Given the description of an element on the screen output the (x, y) to click on. 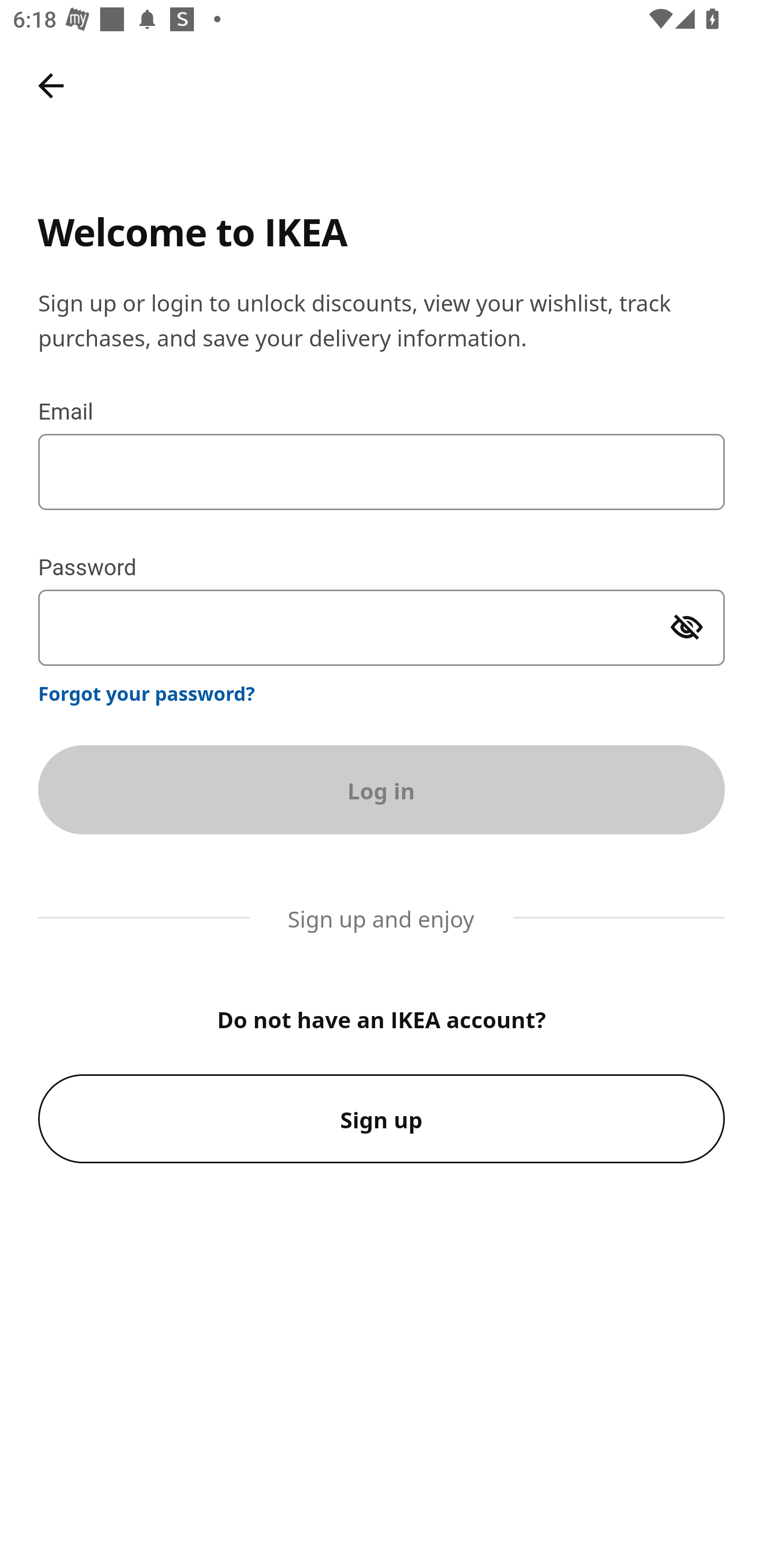
Forgot your password? (146, 692)
Log in (381, 789)
Sign up (381, 1118)
